Given the description of an element on the screen output the (x, y) to click on. 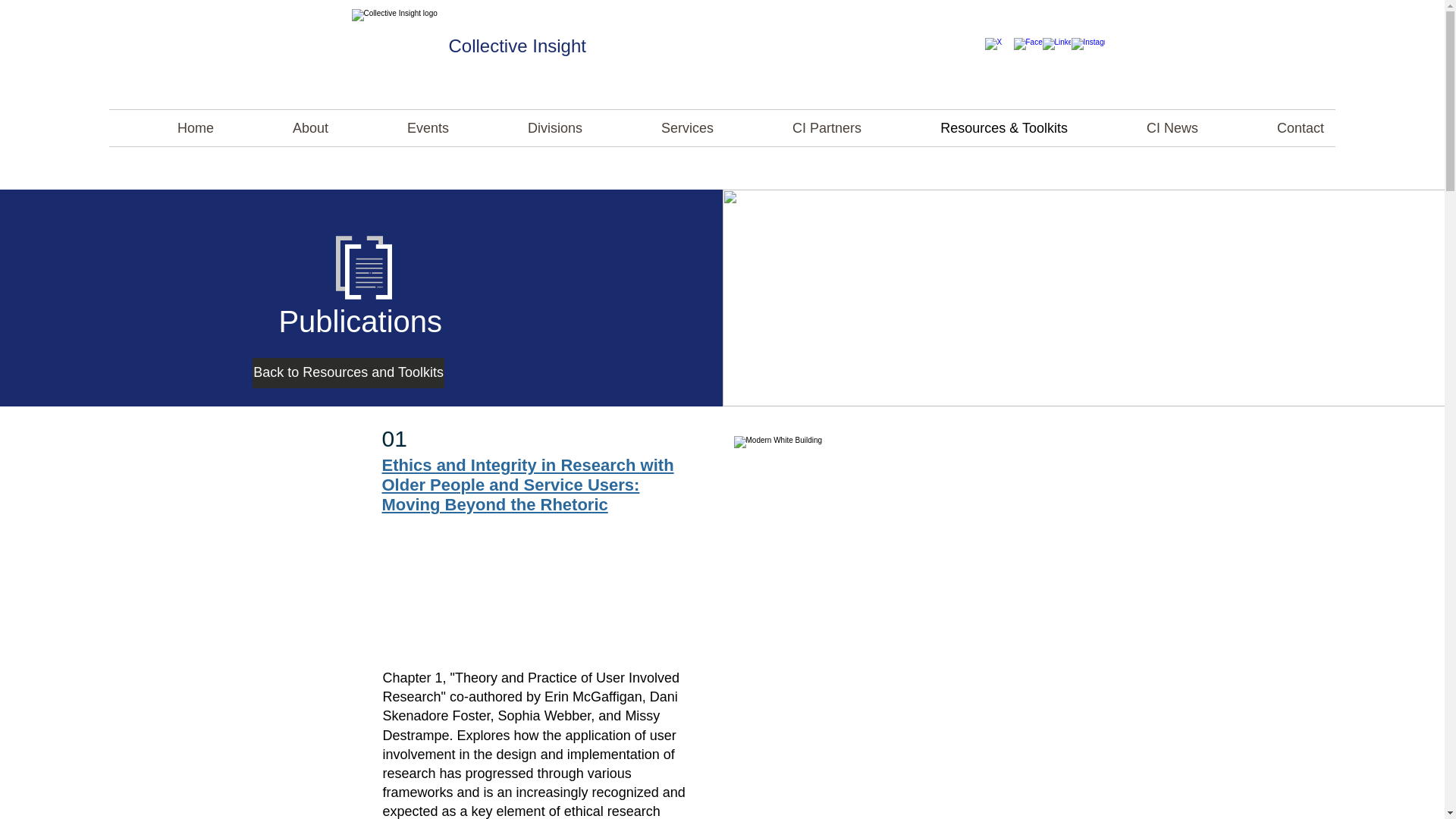
Home (167, 127)
CI News (1143, 127)
Events (399, 127)
Divisions (527, 127)
Services (659, 127)
Contact (1272, 127)
About (282, 127)
CI Partners (798, 127)
